Given the description of an element on the screen output the (x, y) to click on. 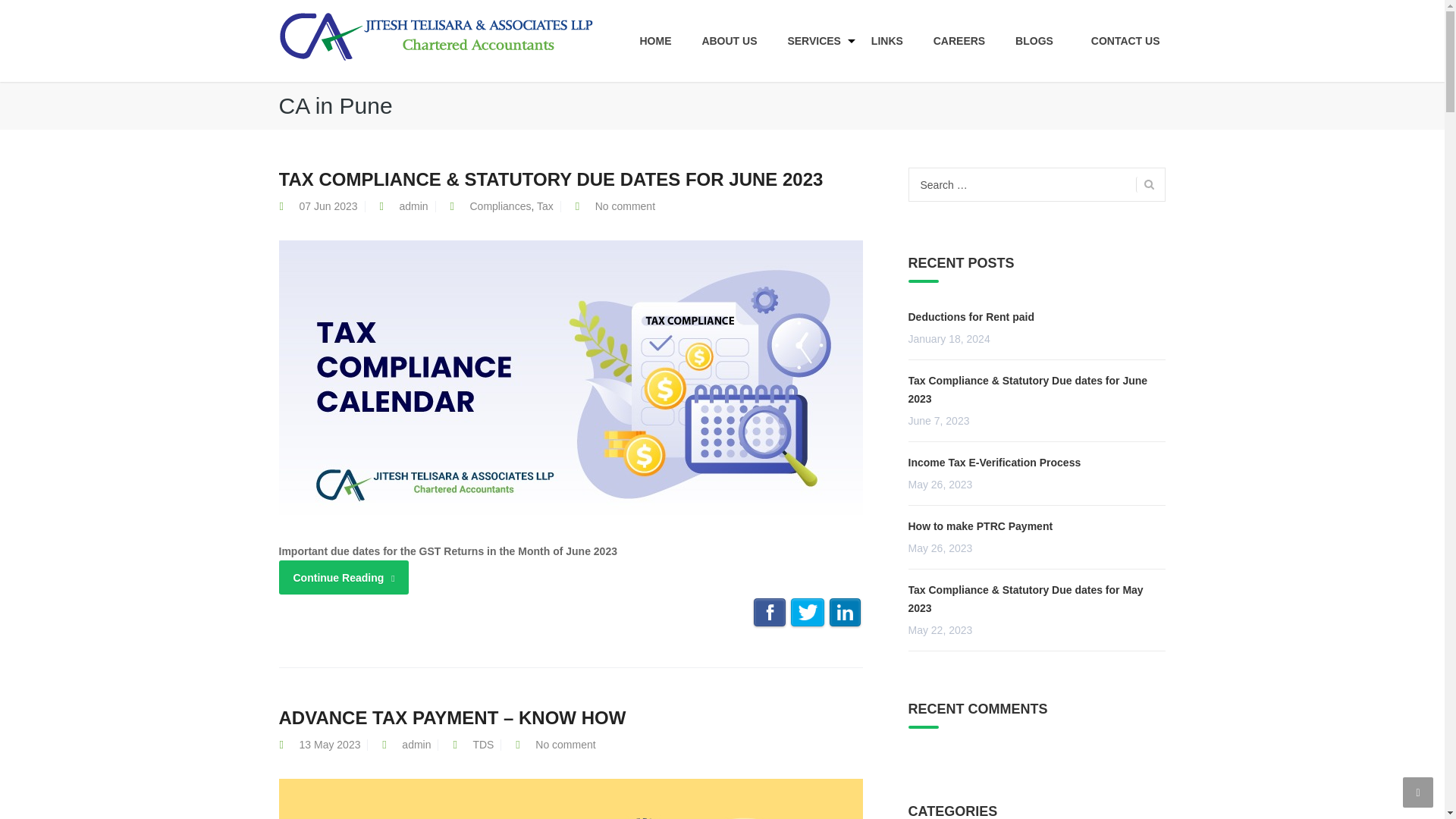
CAREERS (959, 40)
Tax (545, 205)
admin (413, 205)
View all posts by admin (415, 744)
07 Jun 2023 (327, 205)
No comment (625, 205)
Search (1144, 92)
View all posts by admin (413, 205)
ABOUT US (729, 40)
Compliances (500, 205)
Blog (436, 35)
Search (1144, 184)
SERVICES (813, 40)
Search (1144, 184)
CONTACT US (1117, 40)
